Given the description of an element on the screen output the (x, y) to click on. 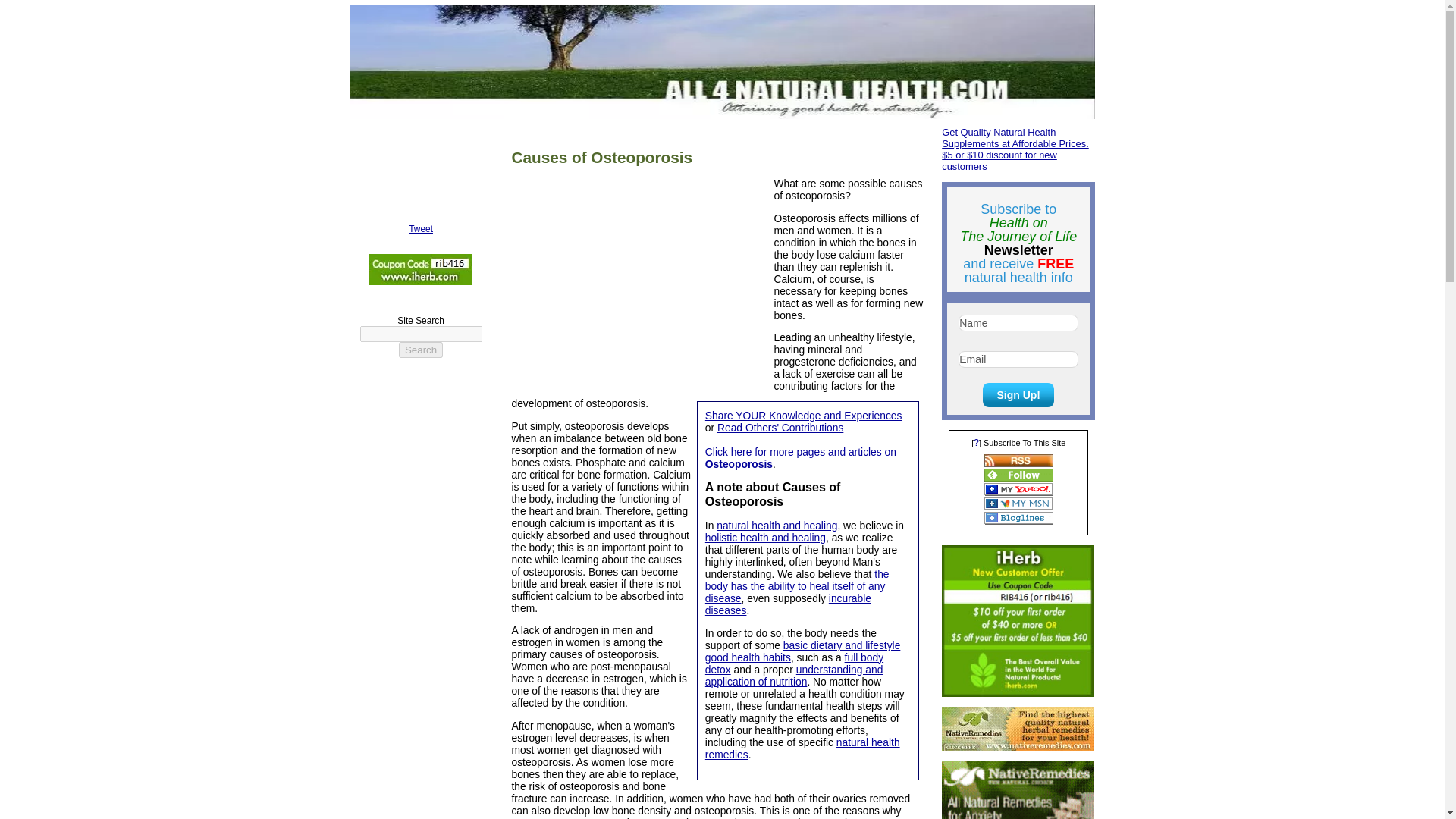
the body has the ability to heal itself of any disease (796, 586)
understanding and application of nutrition (793, 675)
Advertisement (642, 286)
Search (420, 349)
holistic health and healing (764, 537)
incurable diseases (787, 604)
natural health remedies (801, 748)
Read Others' Contributions (780, 427)
natural health and healing (776, 525)
full body detox (793, 663)
